Given the description of an element on the screen output the (x, y) to click on. 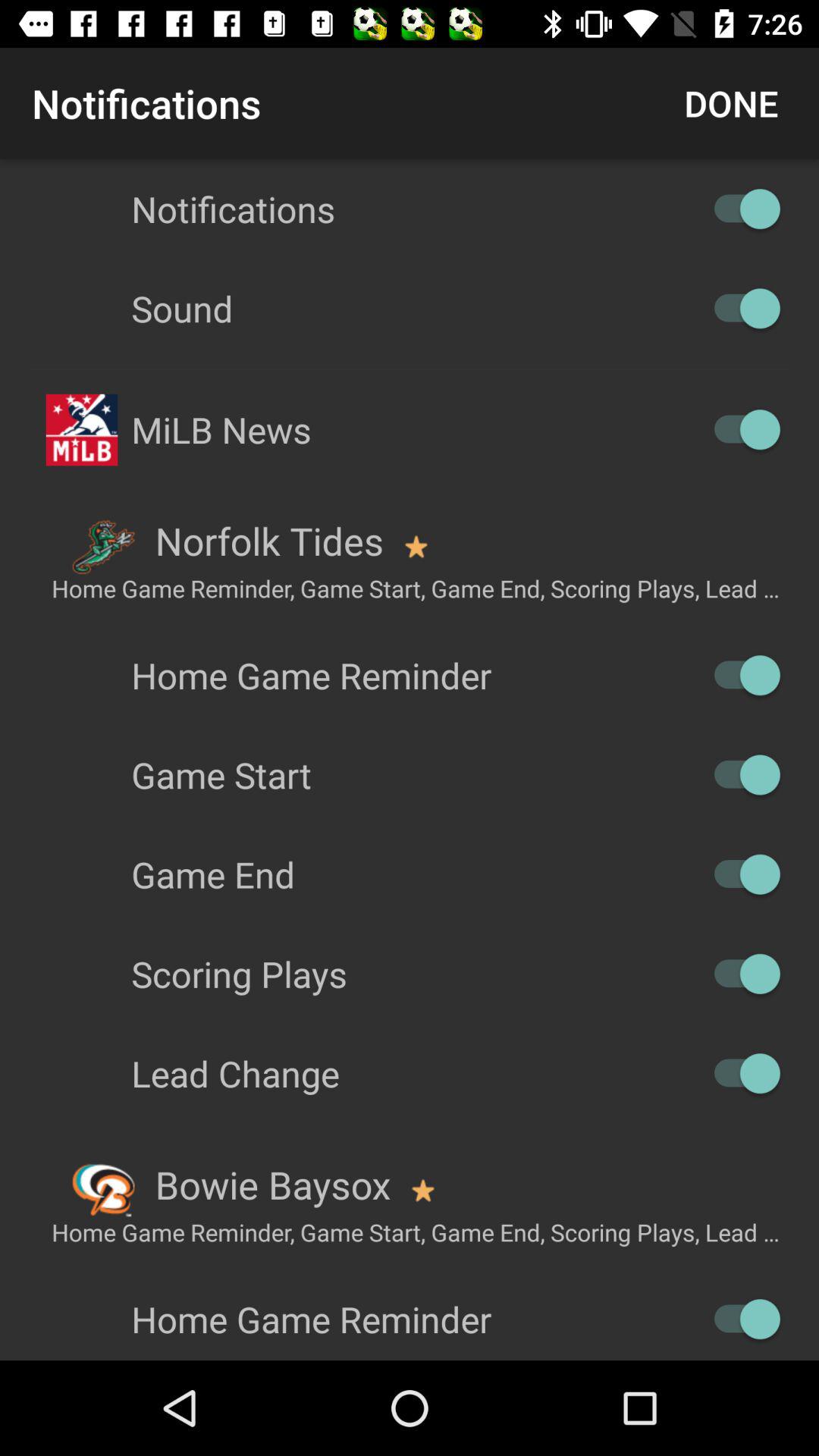
toggle off (739, 1319)
